Given the description of an element on the screen output the (x, y) to click on. 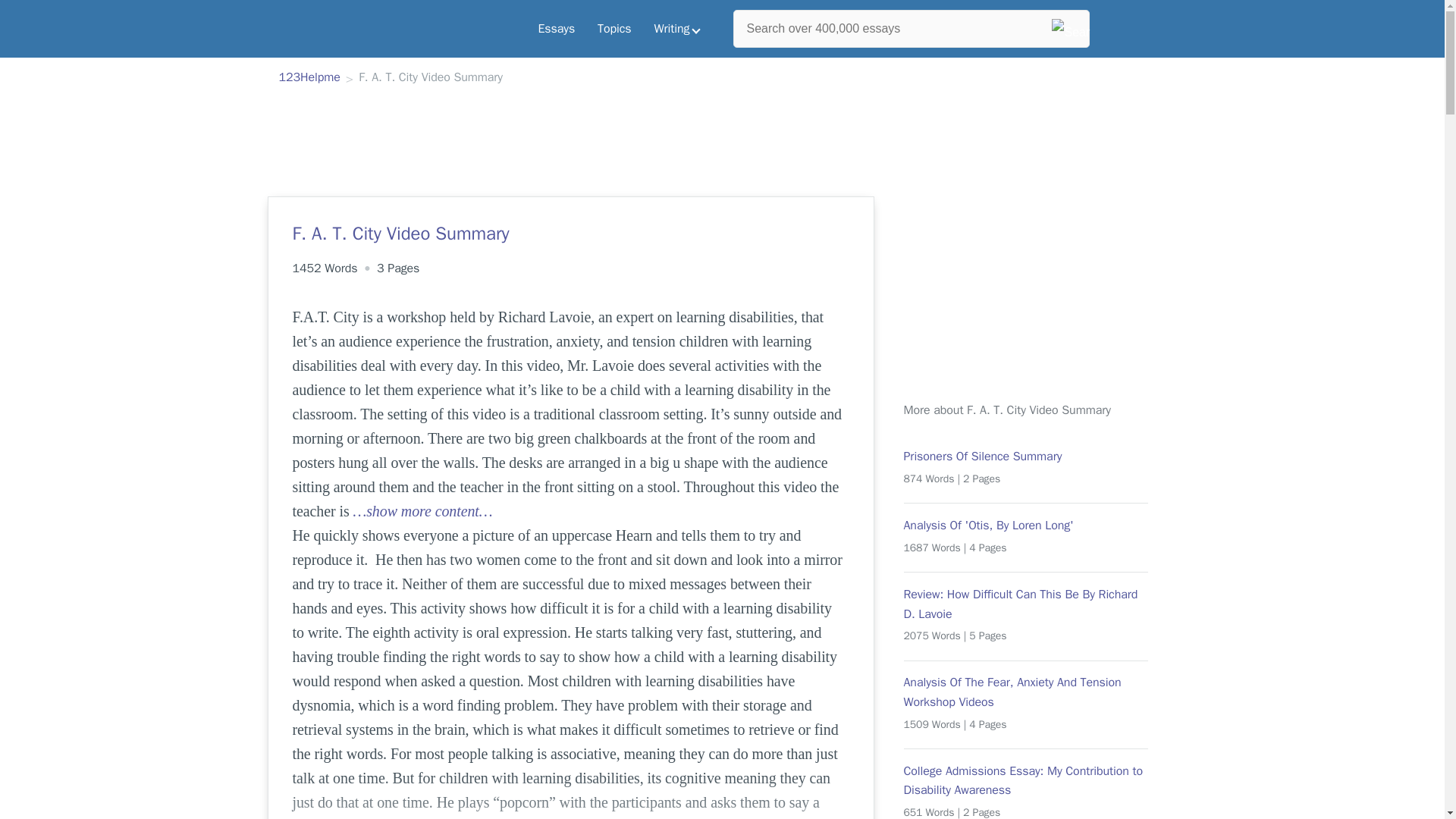
Essays (555, 28)
123Helpme (309, 78)
Topics (614, 28)
Writing (677, 28)
